Given the description of an element on the screen output the (x, y) to click on. 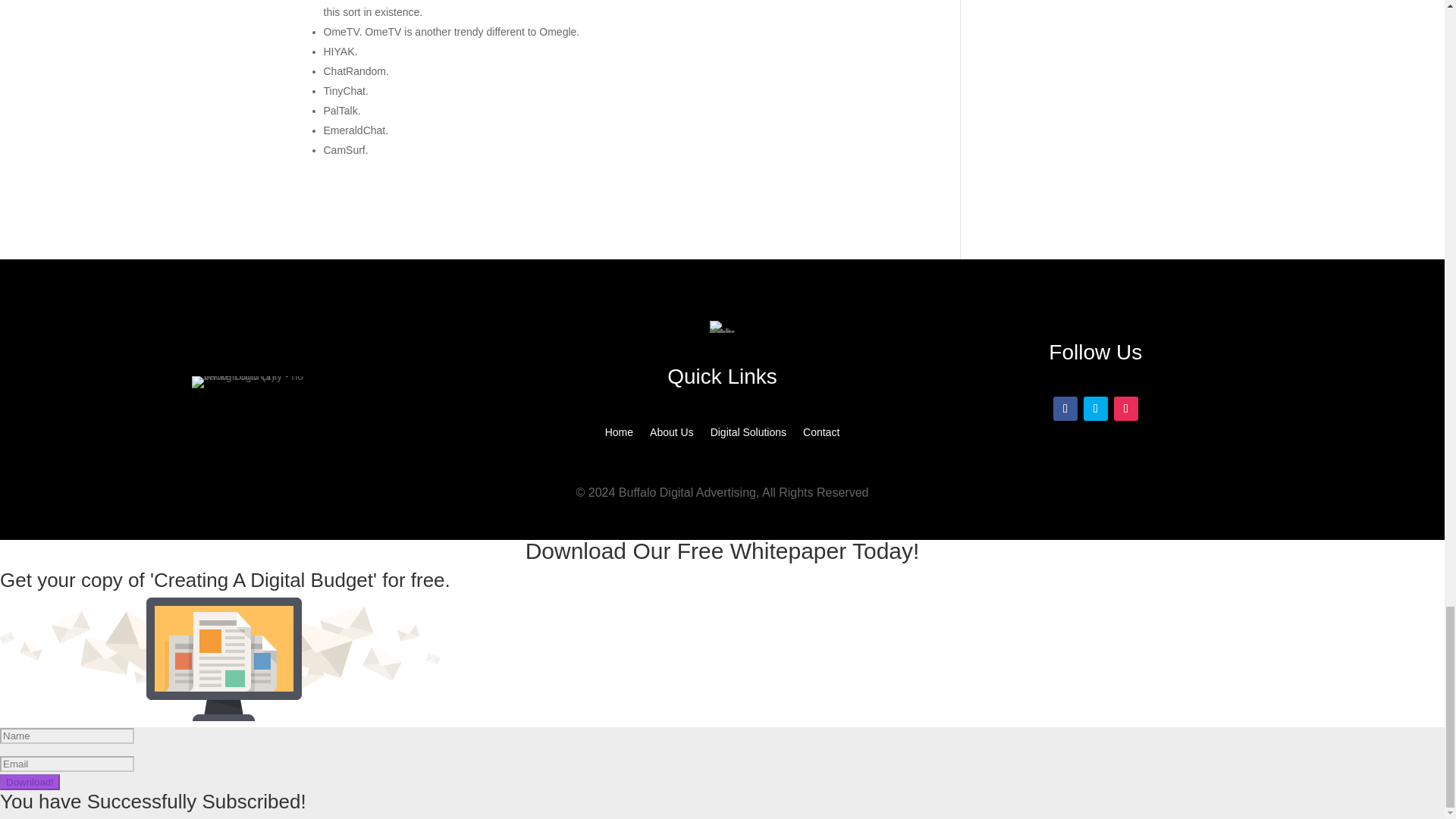
Download! (29, 781)
Follow on Facebook (1064, 408)
Follow on Twitter (1095, 408)
About Us (671, 434)
Home (619, 434)
Digital Solutions (748, 434)
Contact (821, 434)
Follow on Instagram (1125, 408)
